Given the description of an element on the screen output the (x, y) to click on. 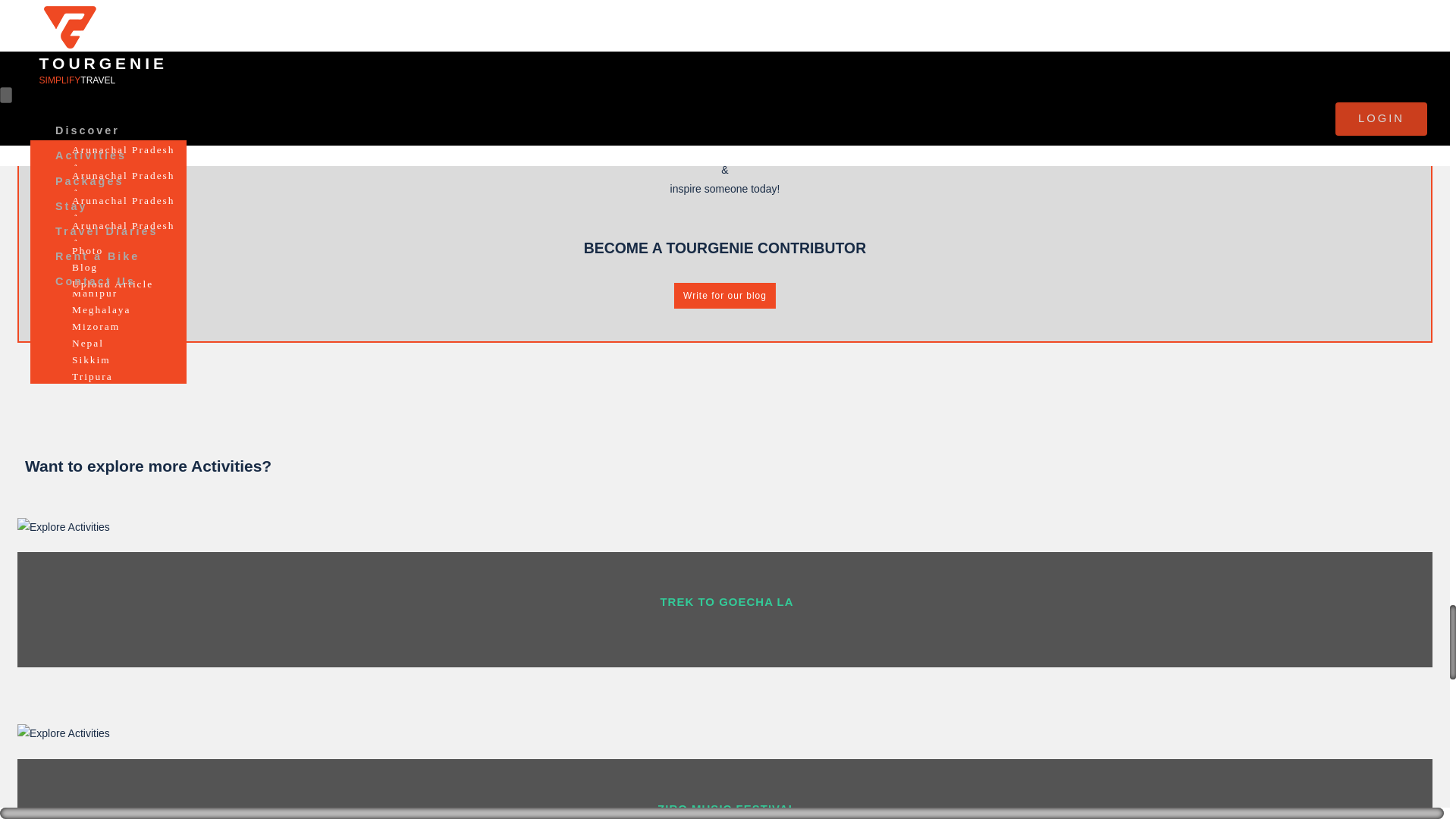
Write for our blog (725, 295)
